Given the description of an element on the screen output the (x, y) to click on. 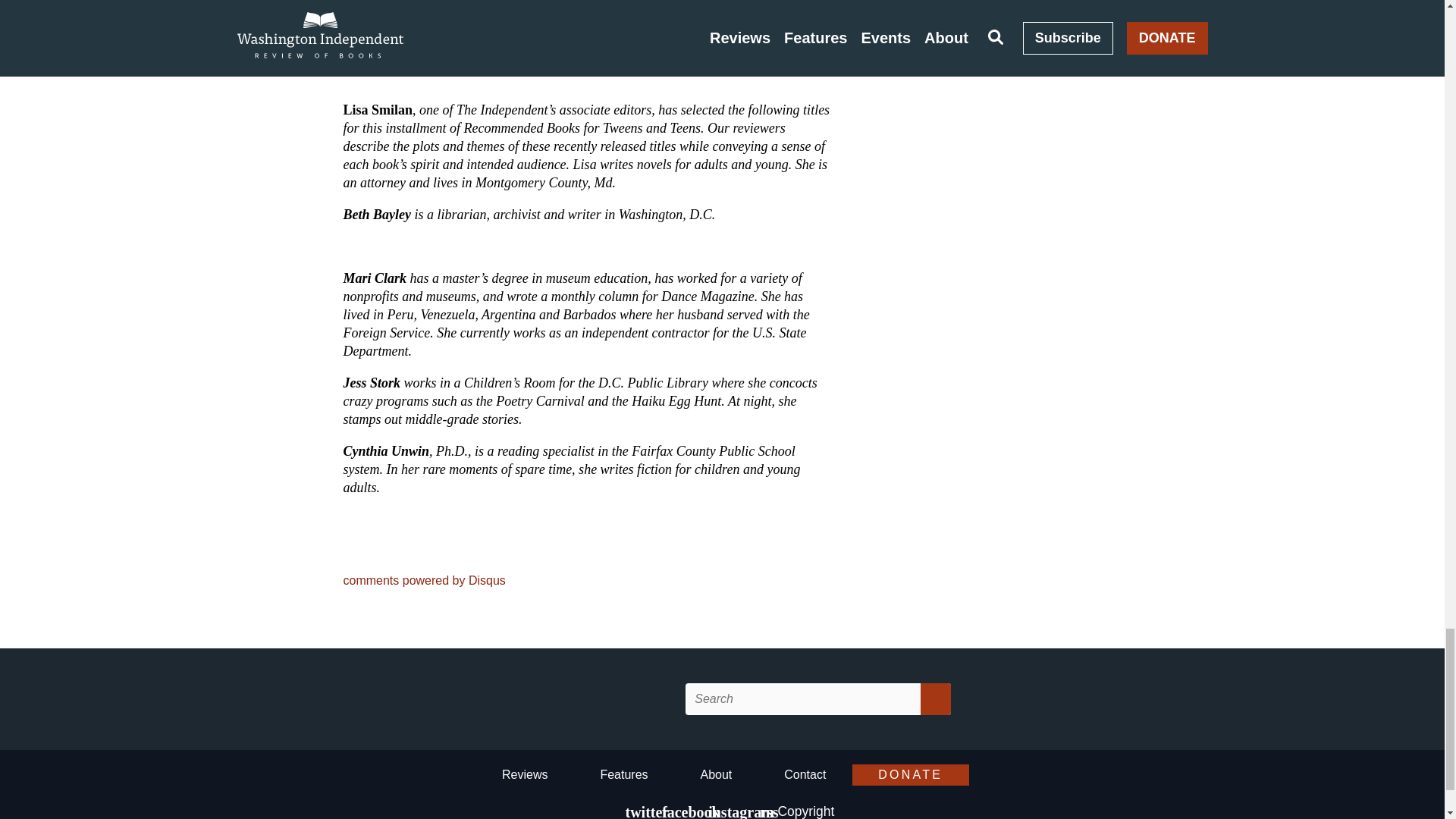
Contact (804, 776)
comments powered by Disqus (423, 580)
Washington Independent Review of Books (576, 699)
Features (623, 776)
About (716, 776)
Reviews (524, 776)
DONATE (910, 774)
